Given the description of an element on the screen output the (x, y) to click on. 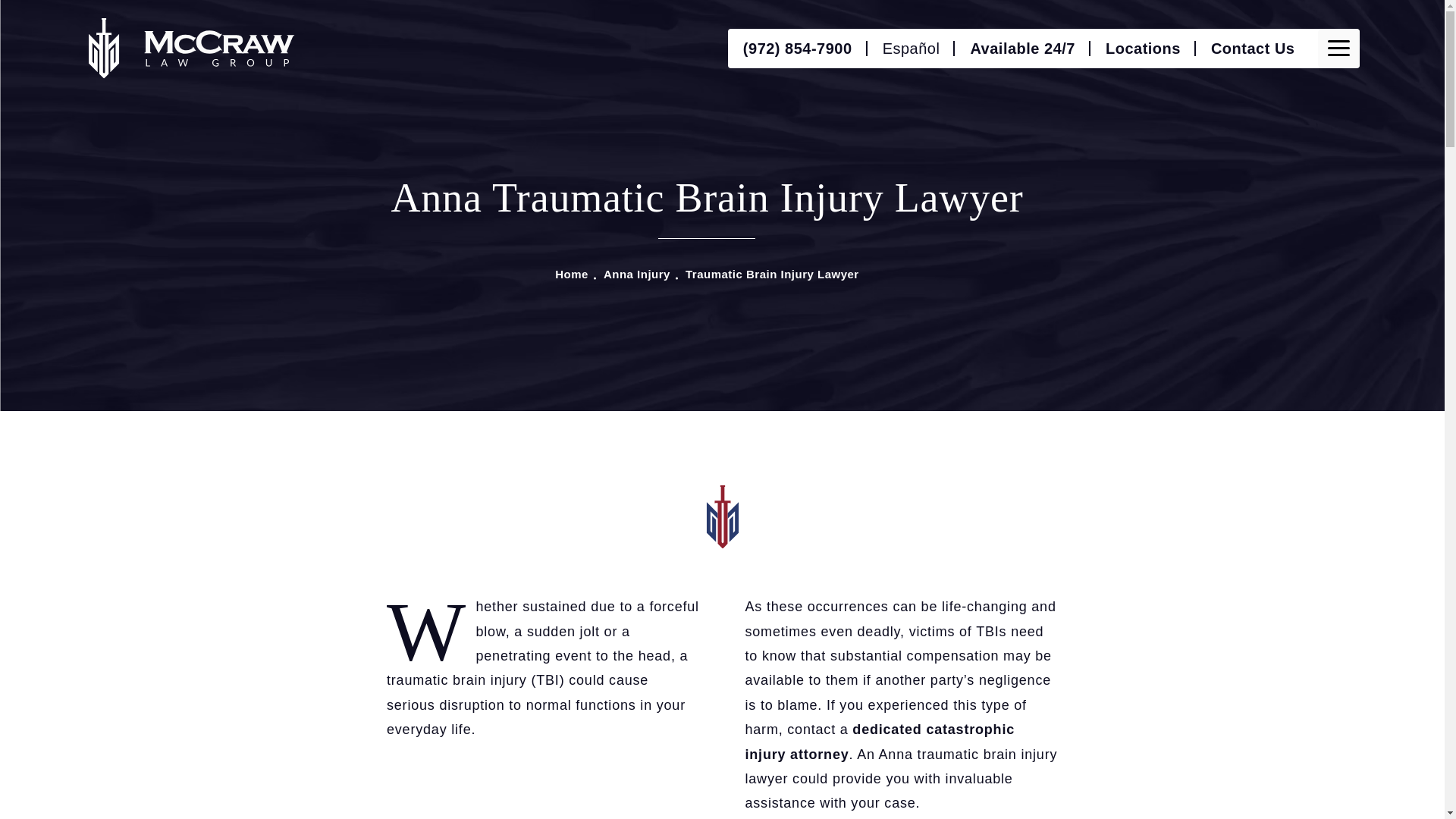
Contact Us (1252, 47)
Locations (1142, 47)
